Given the description of an element on the screen output the (x, y) to click on. 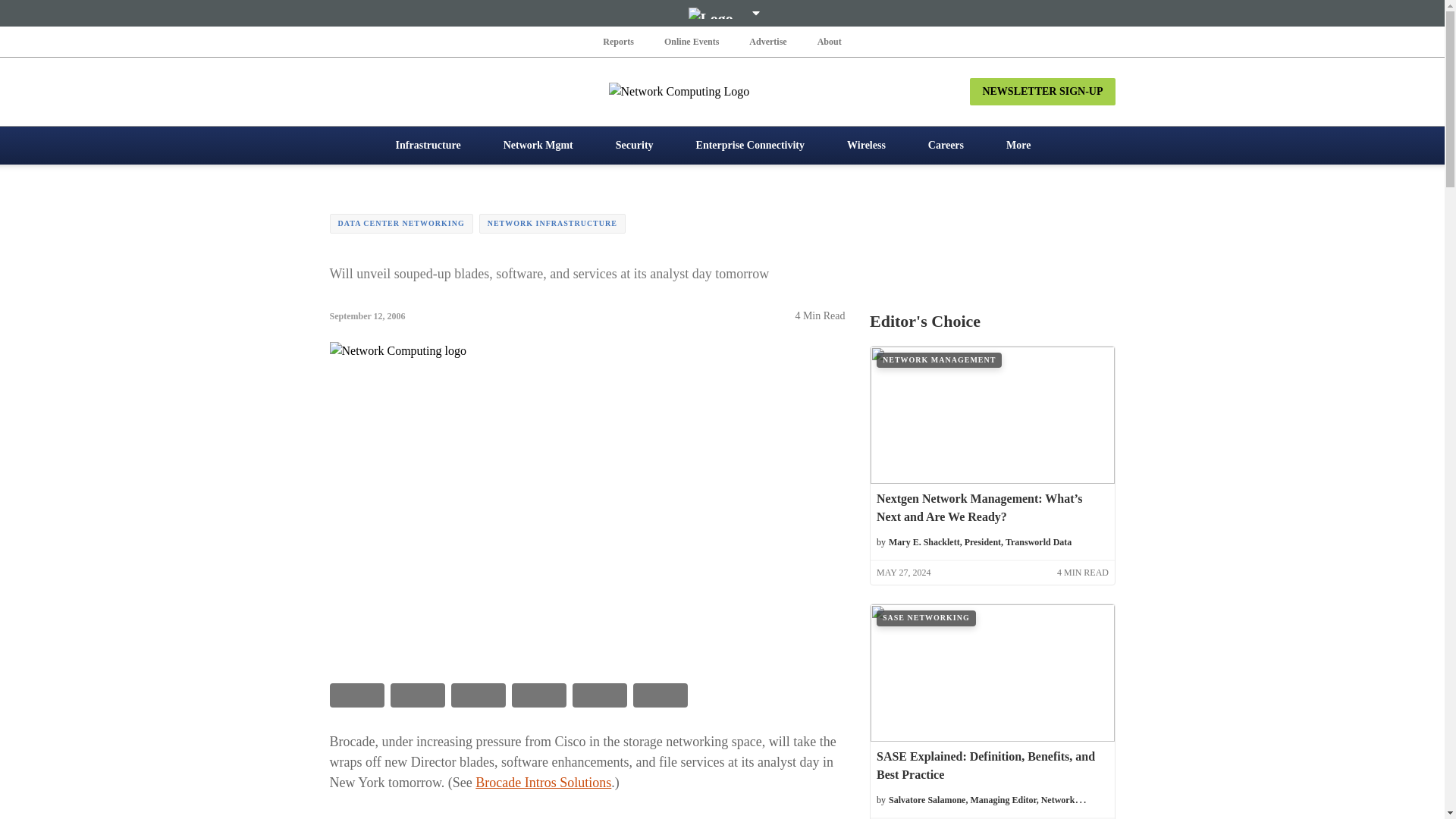
NEWSLETTER SIGN-UP (1042, 90)
About (828, 41)
Reports (618, 41)
Network Computing Logo (721, 91)
Advertise (767, 41)
Online Events (691, 41)
